Given the description of an element on the screen output the (x, y) to click on. 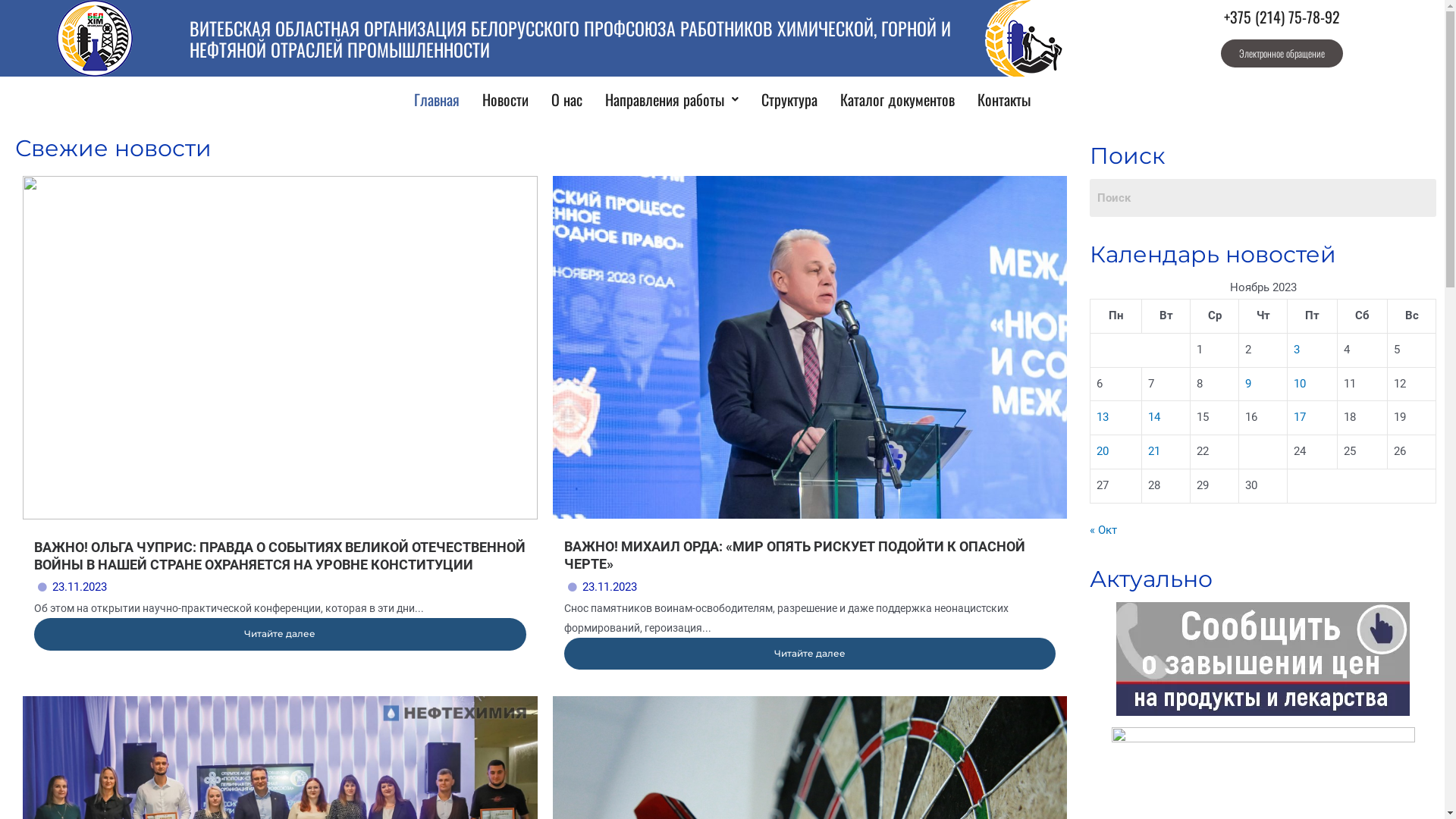
3 Element type: text (1296, 349)
14 Element type: text (1154, 416)
10 Element type: text (1299, 383)
9 Element type: text (1248, 383)
23 Element type: text (1251, 451)
20 Element type: text (1102, 451)
17 Element type: text (1299, 416)
13 Element type: text (1102, 416)
Search Element type: hover (1262, 197)
21 Element type: text (1154, 451)
